Given the description of an element on the screen output the (x, y) to click on. 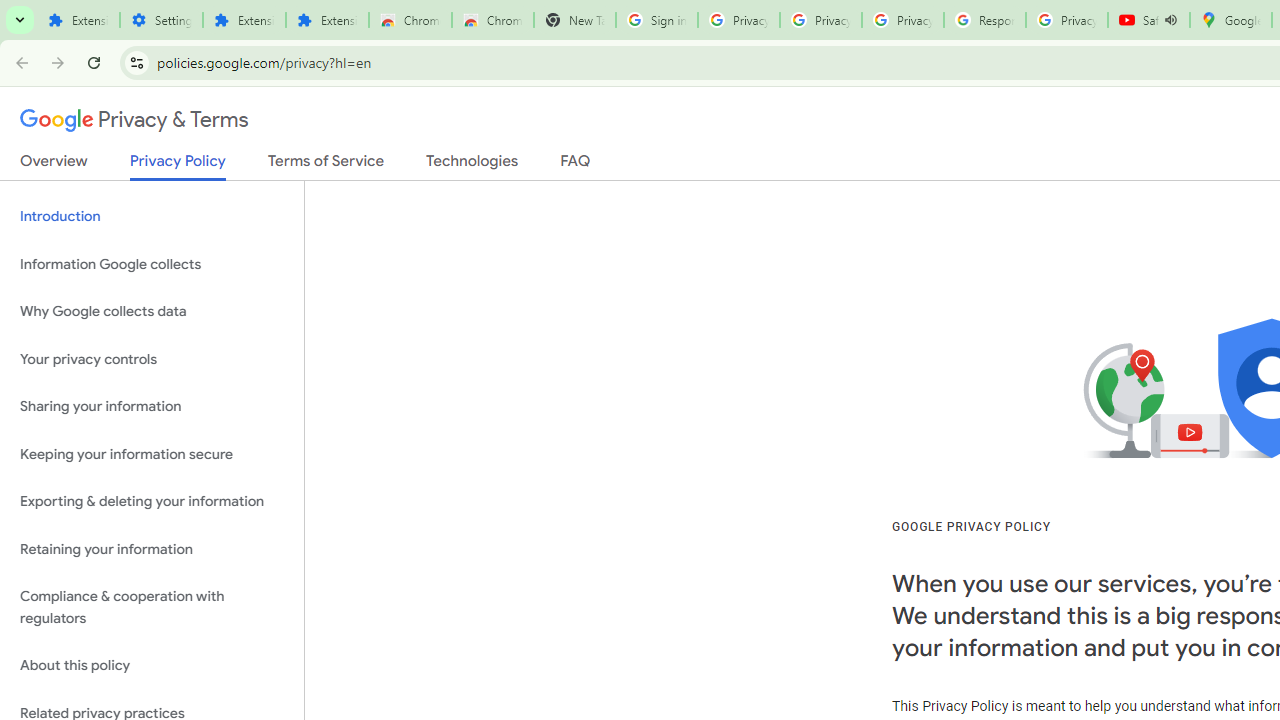
Why Google collects data (152, 312)
Chrome Web Store - Themes (492, 20)
Chrome Web Store (409, 20)
Your privacy controls (152, 358)
Compliance & cooperation with regulators (152, 607)
Sign in - Google Accounts (656, 20)
About this policy (152, 666)
Introduction (152, 216)
